Given the description of an element on the screen output the (x, y) to click on. 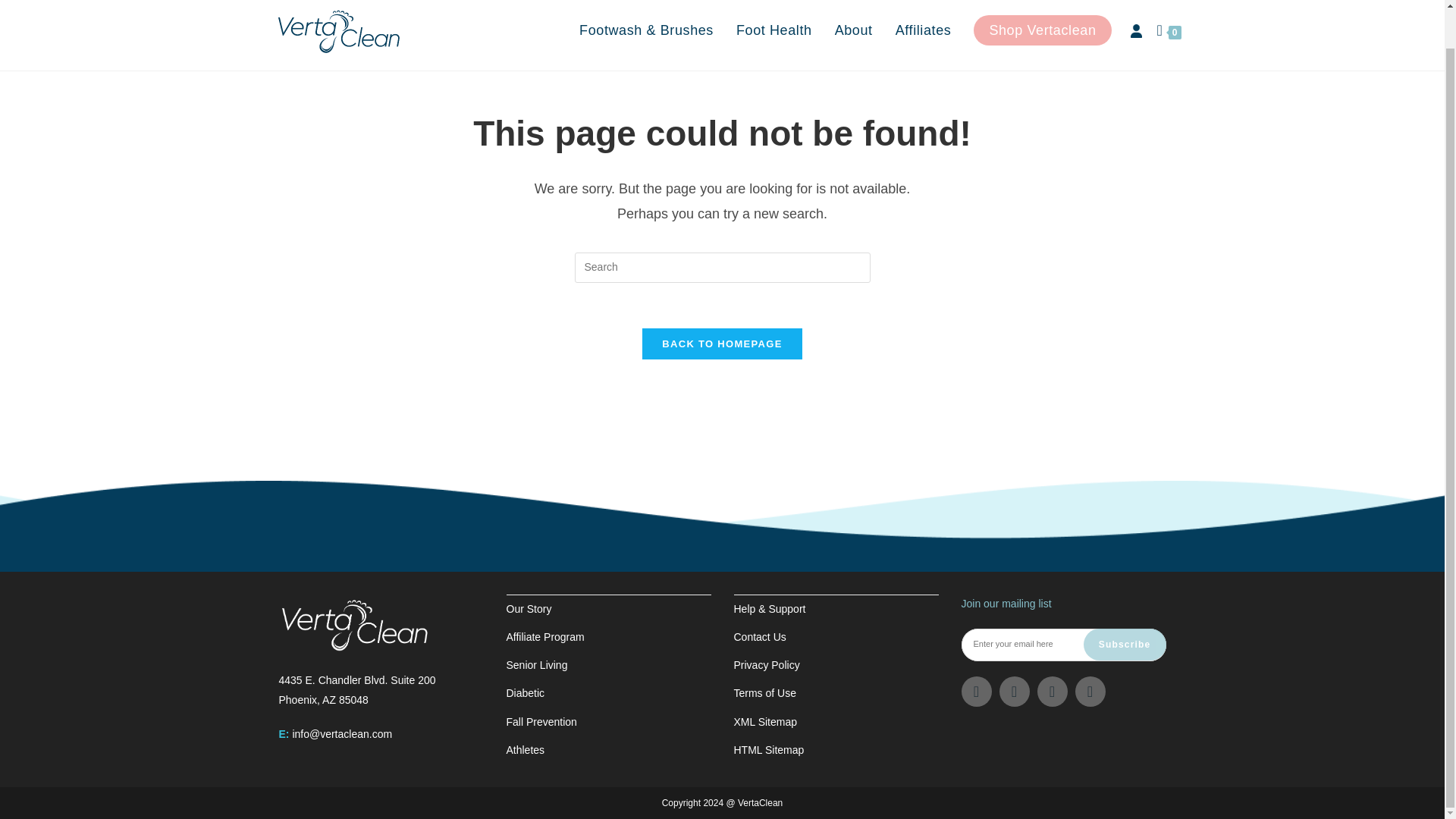
HTML Sitemap (769, 749)
Foot Health (774, 30)
Our Story (528, 608)
Fall Prevention (541, 721)
Diabetic (357, 689)
Affiliate Program (525, 693)
Contact Us (545, 636)
Athletes (759, 636)
Affiliates (525, 749)
Shop Vertaclean (922, 30)
Terms of Use (1042, 30)
0 (764, 693)
XML Sitemap (1169, 32)
Subscribe (765, 721)
